Given the description of an element on the screen output the (x, y) to click on. 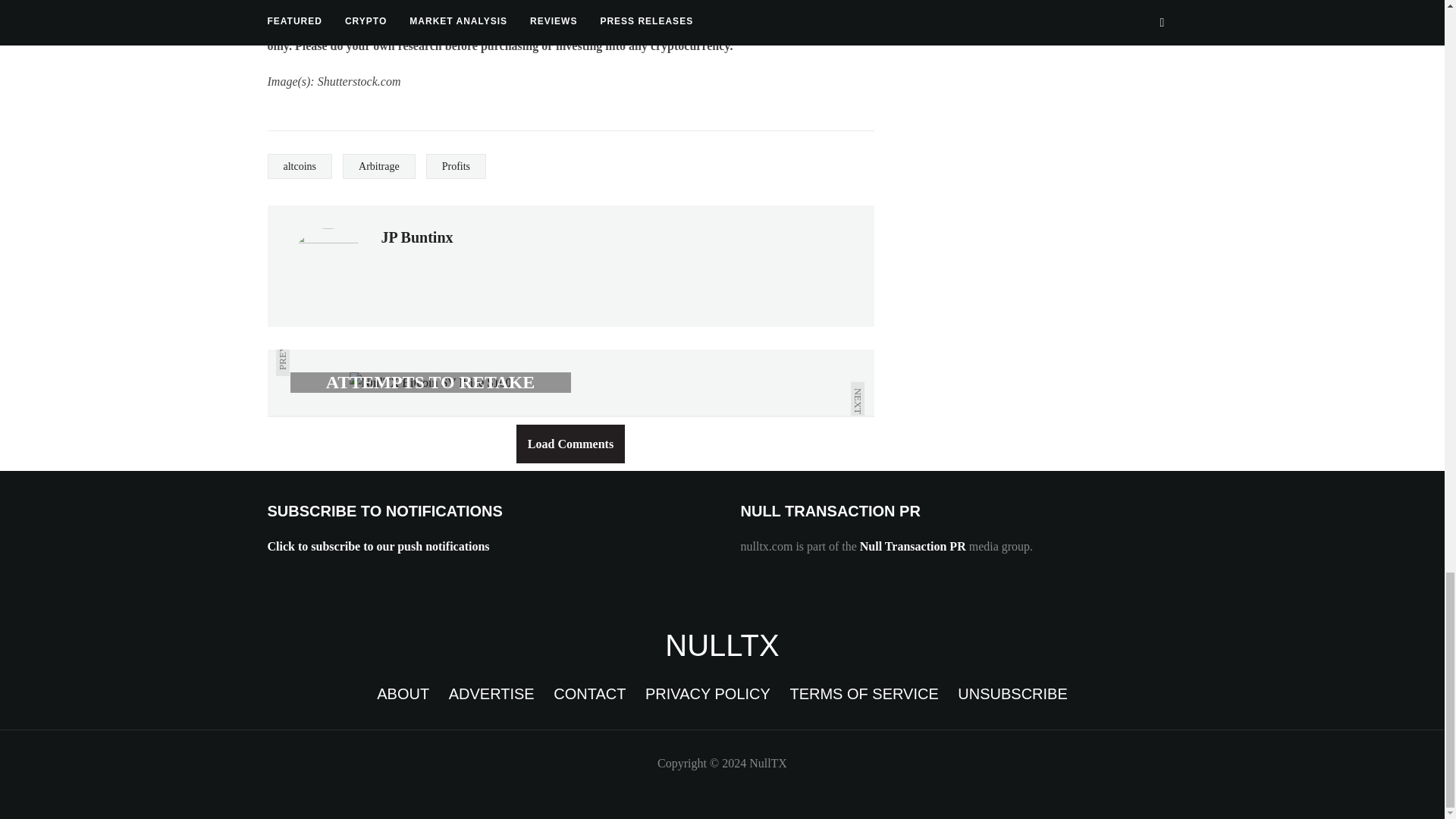
Profits (456, 166)
Load Comments (570, 444)
Click to subscribe to our push notifications (377, 545)
Posts by JP Buntinx (416, 237)
JP Buntinx (416, 237)
NULLTX (721, 644)
Null Transaction PR (913, 545)
ABOUT (403, 693)
altcoins (298, 166)
Cryptocurrency News (721, 644)
